Given the description of an element on the screen output the (x, y) to click on. 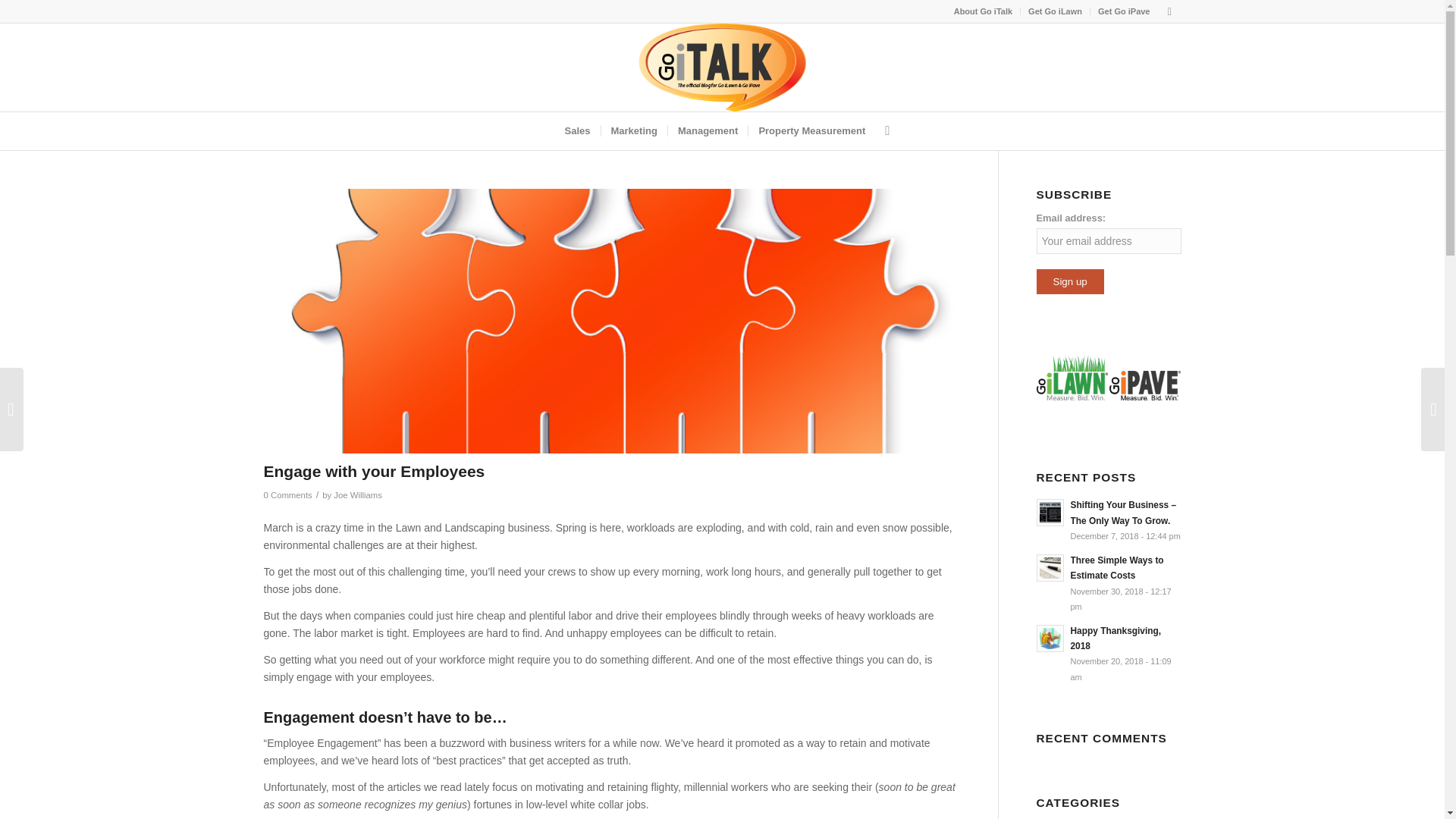
Get Go iLawn (1054, 11)
Get Go iPave (1123, 11)
Engage with your Employees (373, 470)
Joe Williams (357, 494)
0 Comments (288, 494)
Marketing (632, 130)
Permanent Link: Engage with your Employees (373, 470)
Sales (576, 130)
Management (707, 130)
Property Measurement (811, 130)
Posts by Joe Williams (357, 494)
About Go iTalk (982, 11)
Sign up (1069, 281)
Twitter (1169, 11)
Sign up (1069, 281)
